Given the description of an element on the screen output the (x, y) to click on. 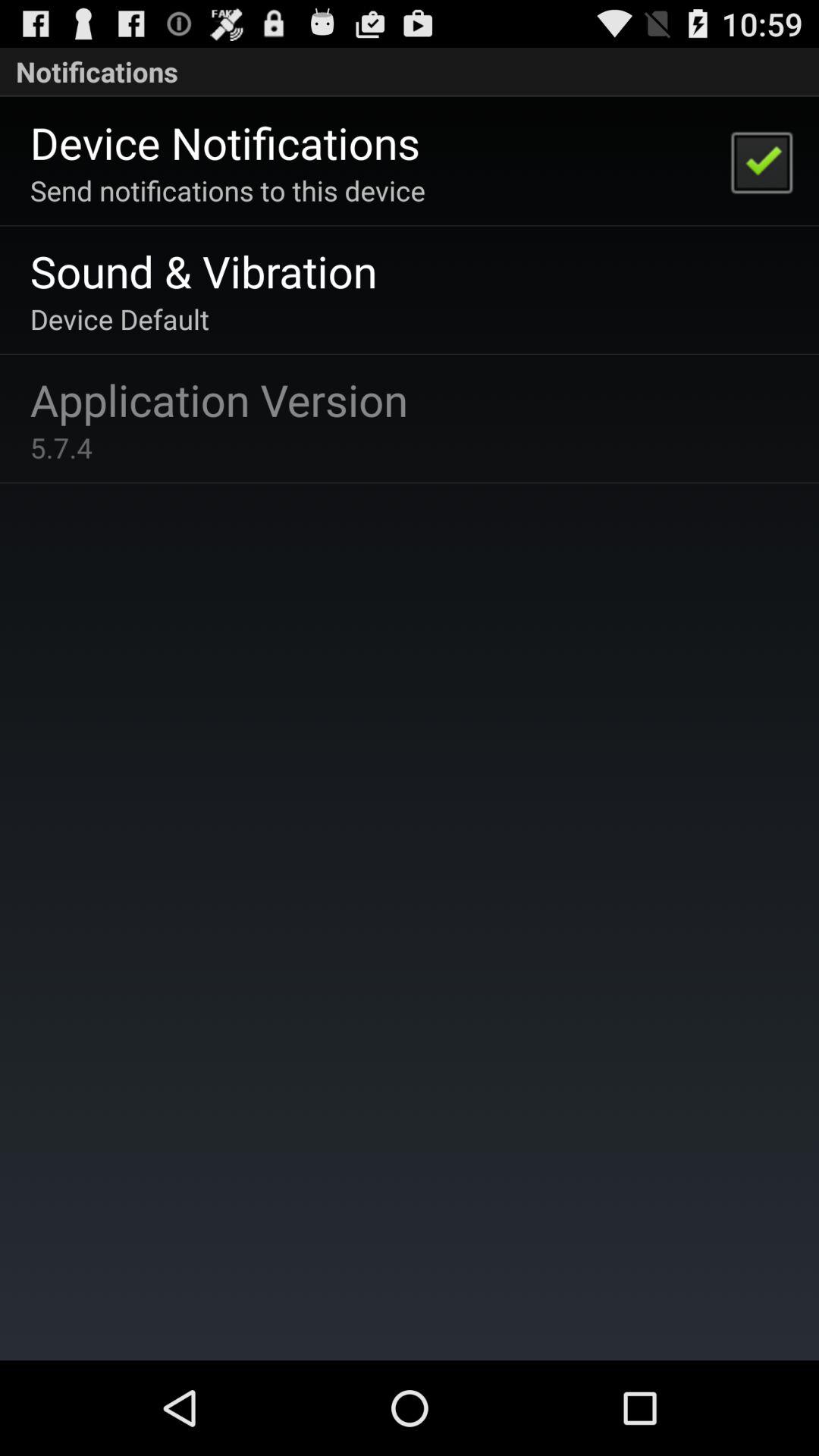
turn on 5.7.4 icon (61, 447)
